Given the description of an element on the screen output the (x, y) to click on. 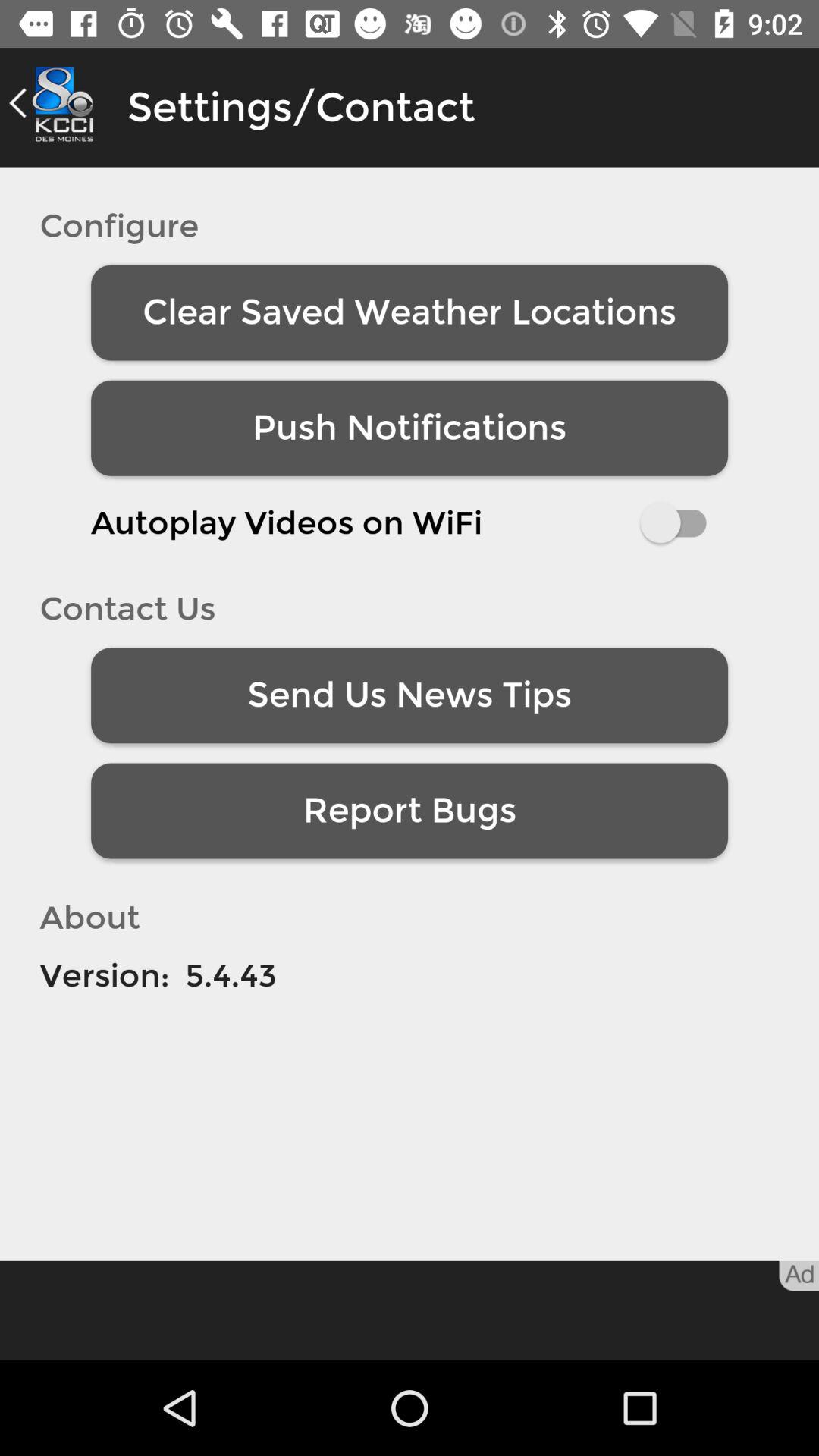
choose the icon above report bugs item (409, 695)
